Given the description of an element on the screen output the (x, y) to click on. 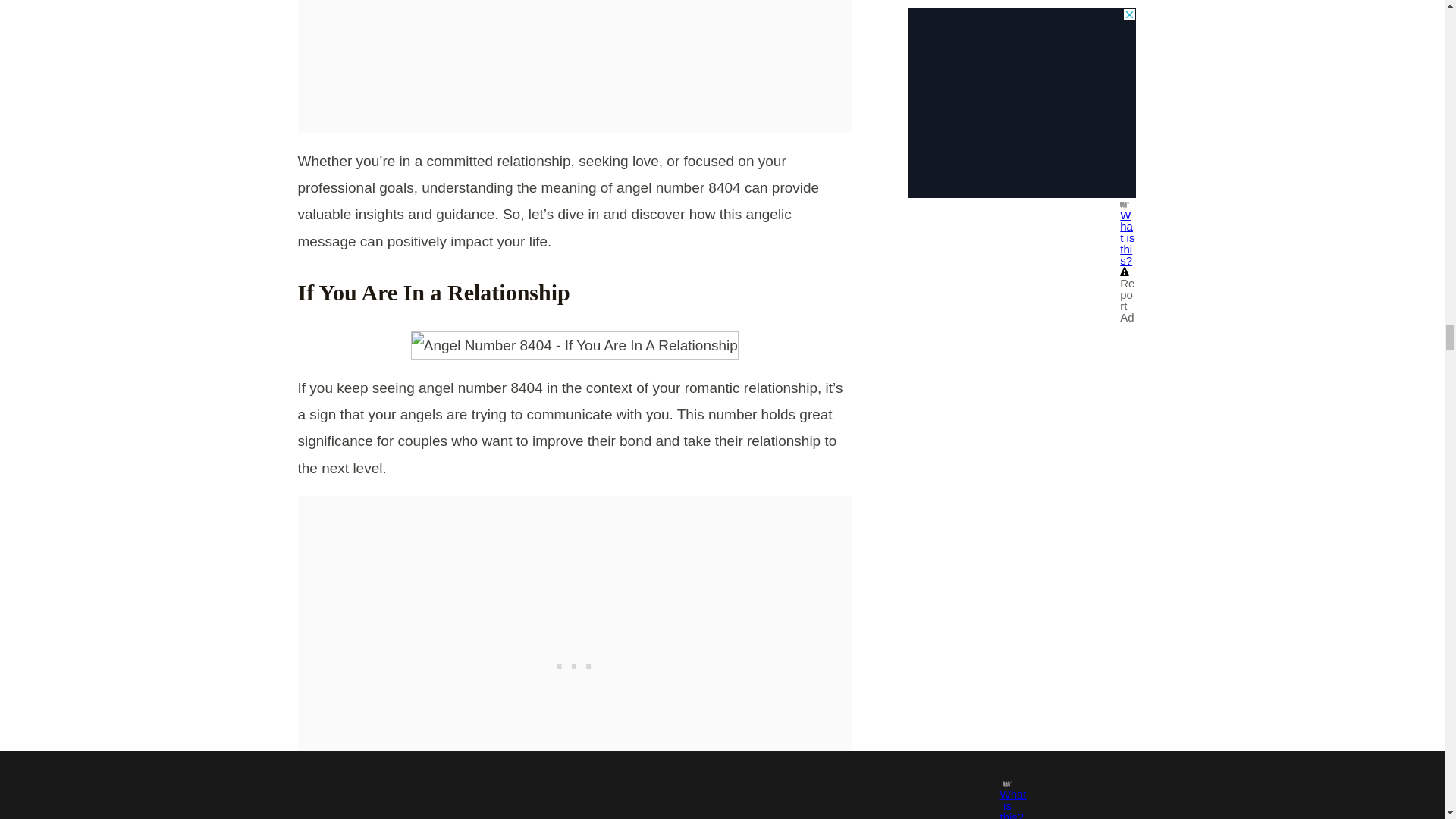
Angel Number 8404 - If You Are In A Relationship (574, 345)
